Given the description of an element on the screen output the (x, y) to click on. 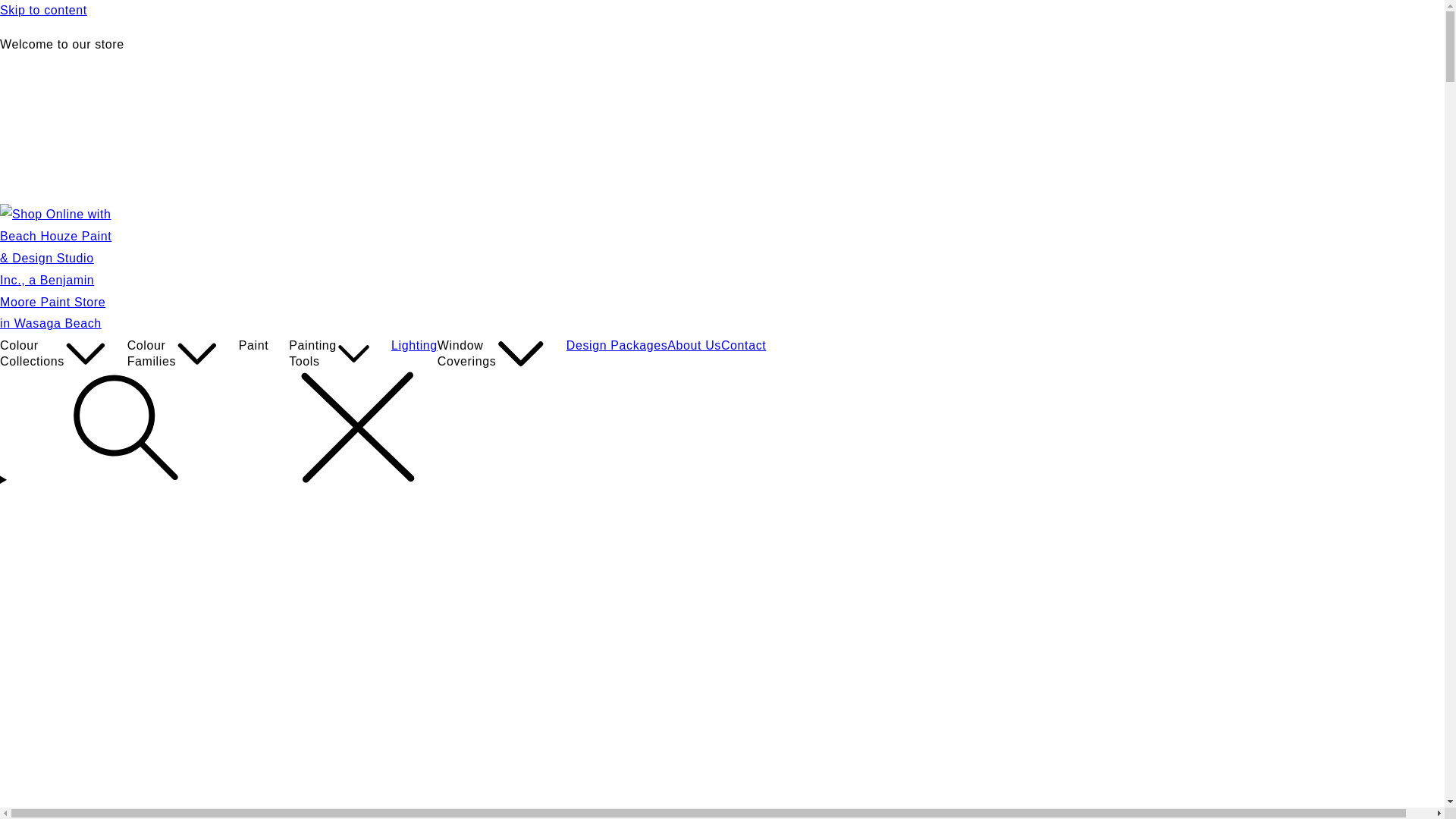
Lighting Element type: text (414, 346)
Design Packages Element type: text (617, 346)
Contact Element type: text (743, 346)
About Us Element type: text (694, 346)
Skip to content Element type: text (722, 10)
